Given the description of an element on the screen output the (x, y) to click on. 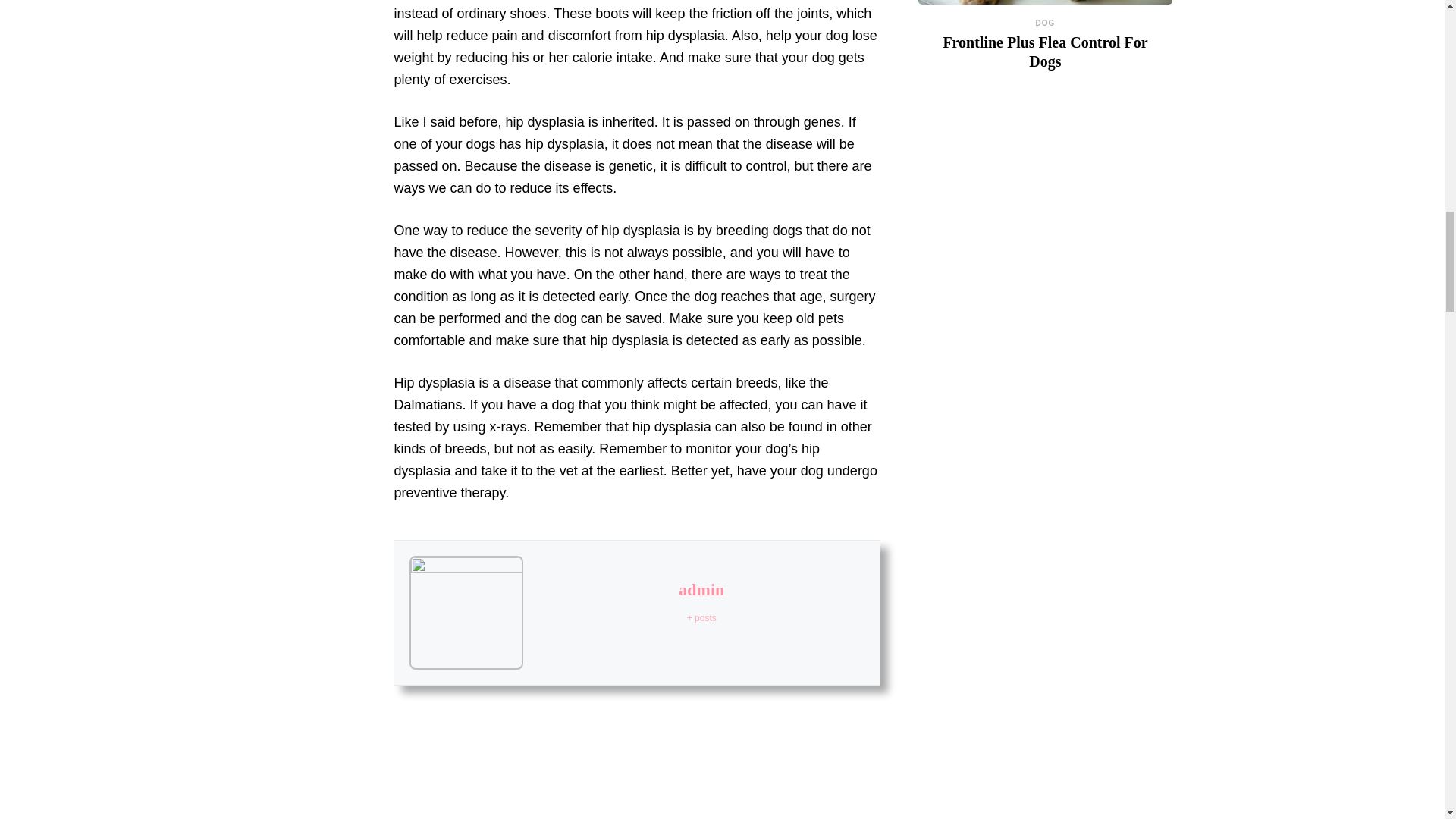
admin (700, 588)
